Given the description of an element on the screen output the (x, y) to click on. 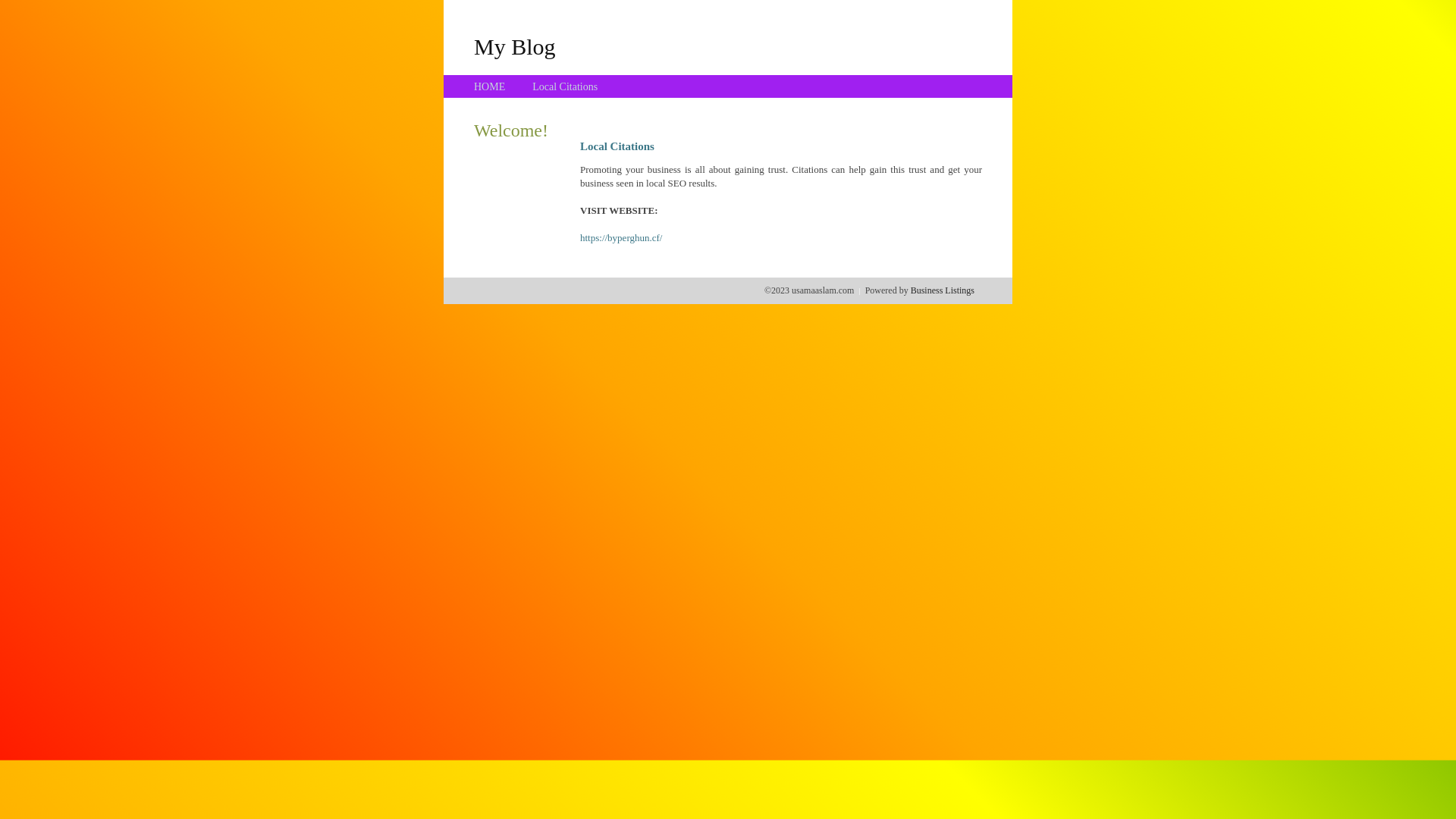
Business Listings Element type: text (942, 290)
My Blog Element type: text (514, 46)
HOME Element type: text (489, 86)
Local Citations Element type: text (564, 86)
https://byperghun.cf/ Element type: text (621, 237)
